Given the description of an element on the screen output the (x, y) to click on. 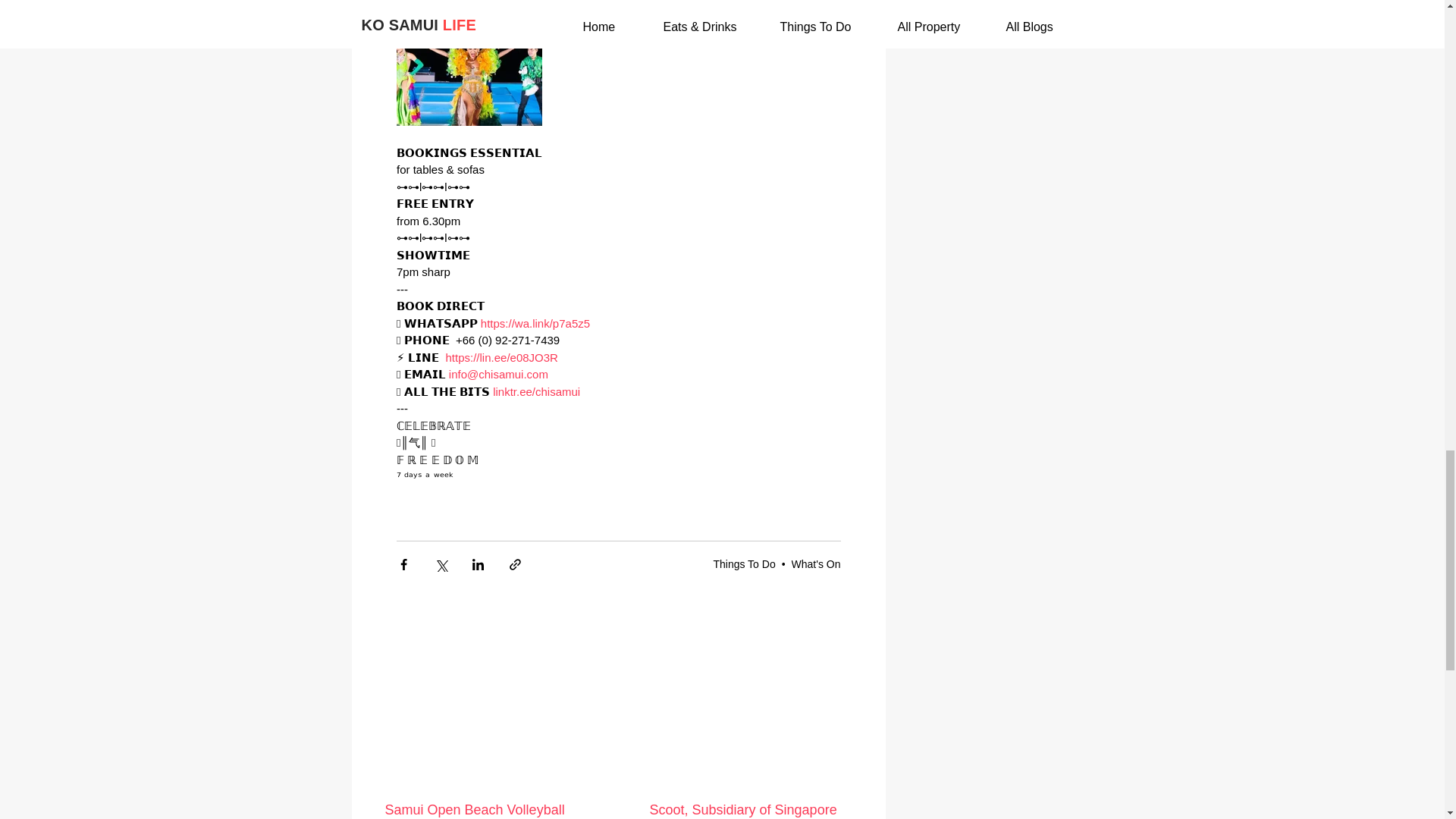
What's On (816, 563)
Things To Do (743, 563)
